Given the description of an element on the screen output the (x, y) to click on. 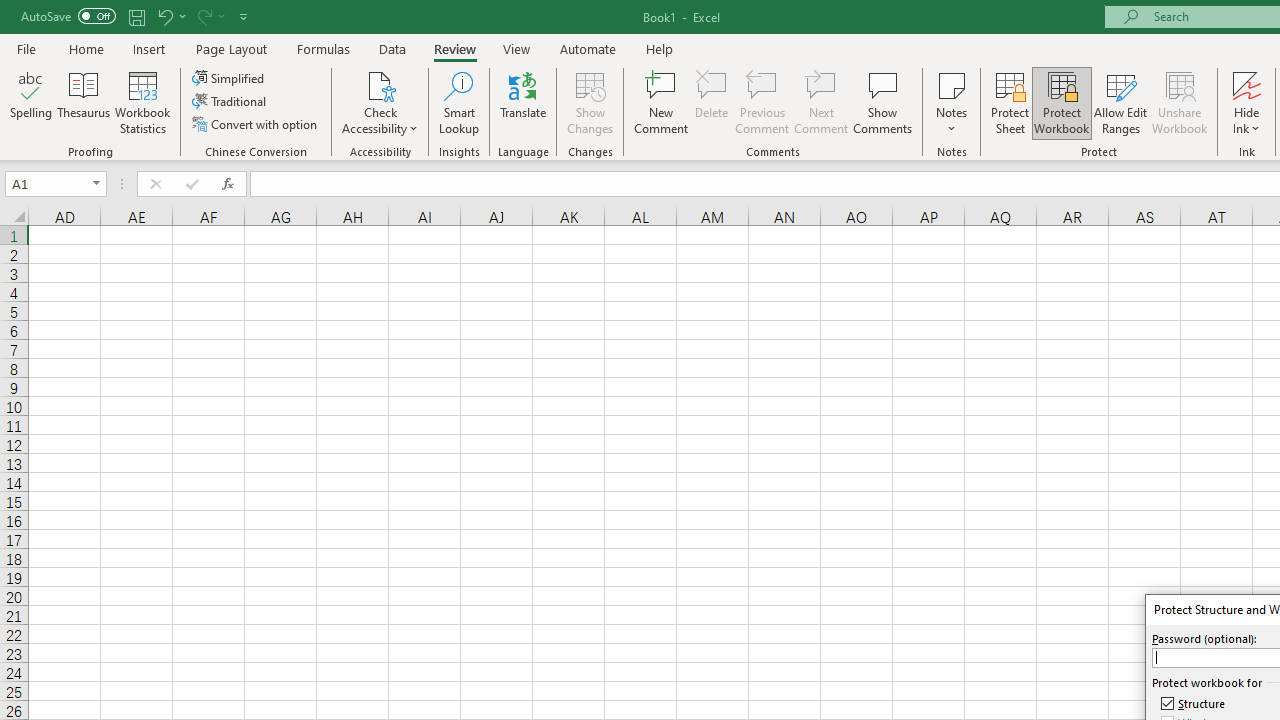
Structure (1193, 704)
Notes (951, 102)
Convert with option (256, 124)
Traditional (230, 101)
Check Accessibility (380, 102)
Workbook Statistics (142, 102)
Allow Edit Ranges (1120, 102)
Show Changes (589, 102)
